Given the description of an element on the screen output the (x, y) to click on. 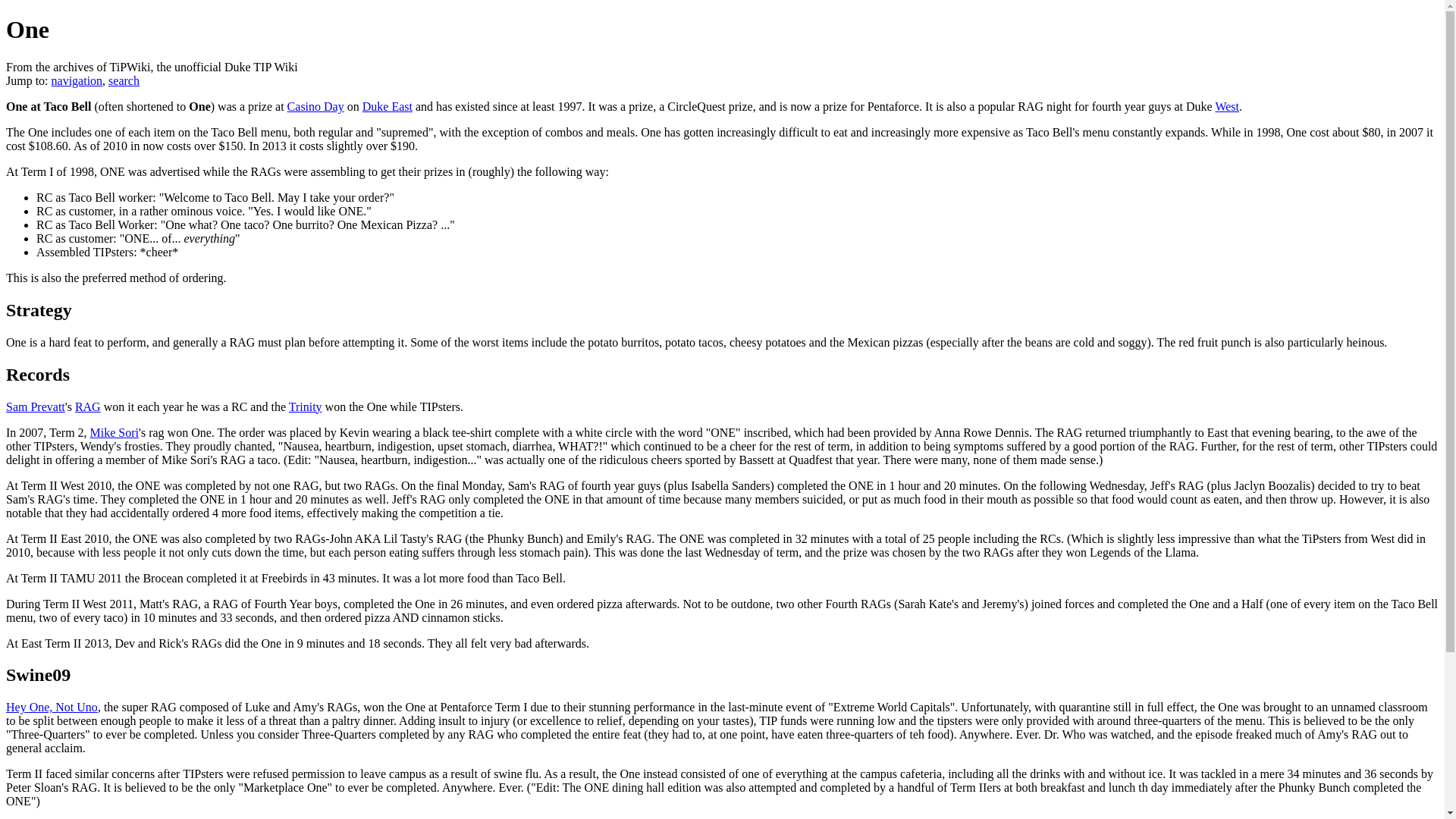
RAG (87, 406)
Casino Day (314, 106)
West (1226, 106)
Sam Prevatt (35, 406)
Trinity (304, 406)
Mike Sori (114, 431)
Sam Prevatt (35, 406)
Duke East (387, 106)
Trinity (304, 406)
Casino Day (314, 106)
